Given the description of an element on the screen output the (x, y) to click on. 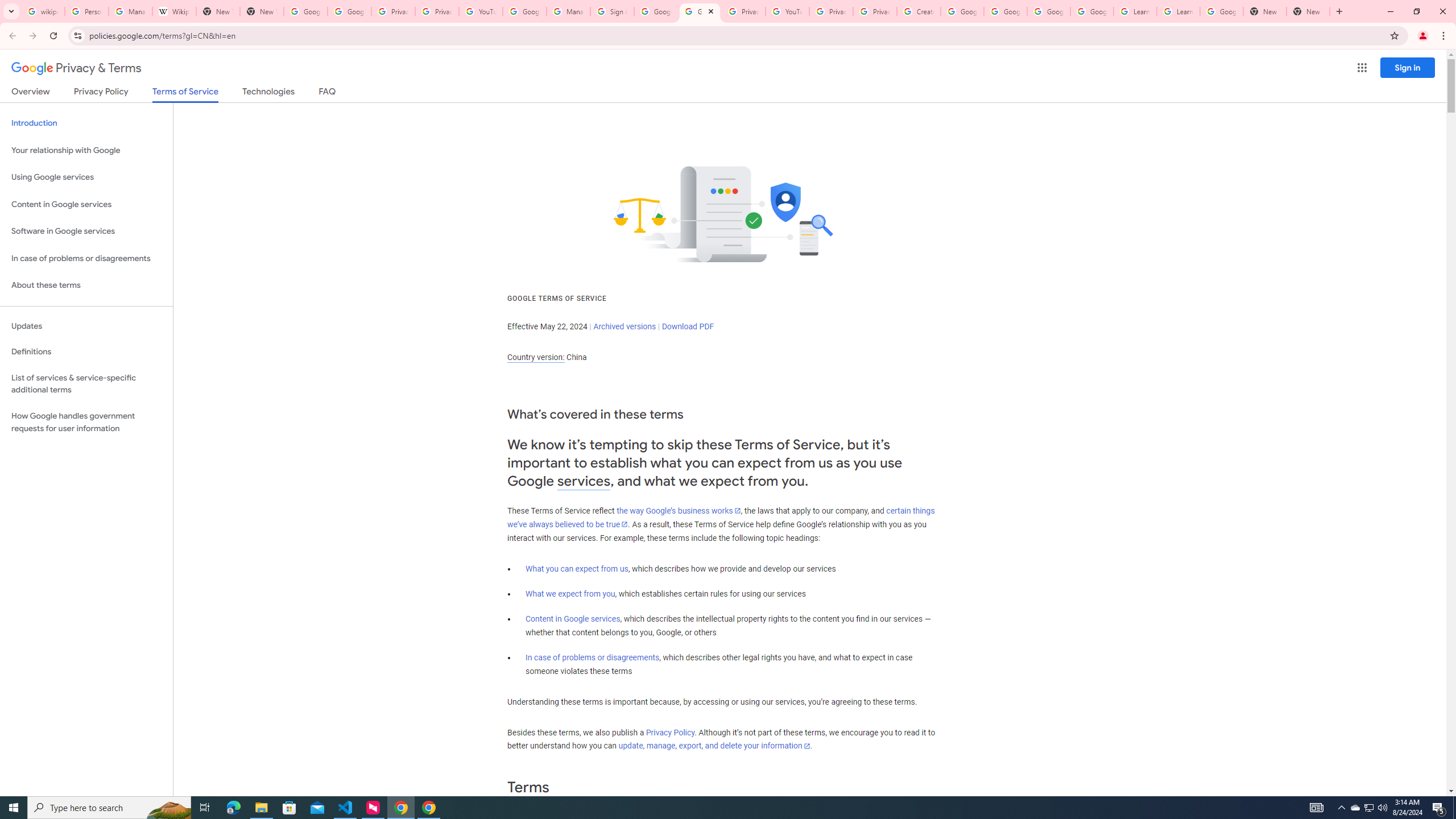
About these terms (86, 284)
In case of problems or disagreements (592, 657)
Google Drive: Sign-in (349, 11)
Sign in - Google Accounts (612, 11)
Google Account (1221, 11)
Wikipedia:Edit requests - Wikipedia (173, 11)
How Google handles government requests for user information (86, 422)
New Tab (1308, 11)
